Given the description of an element on the screen output the (x, y) to click on. 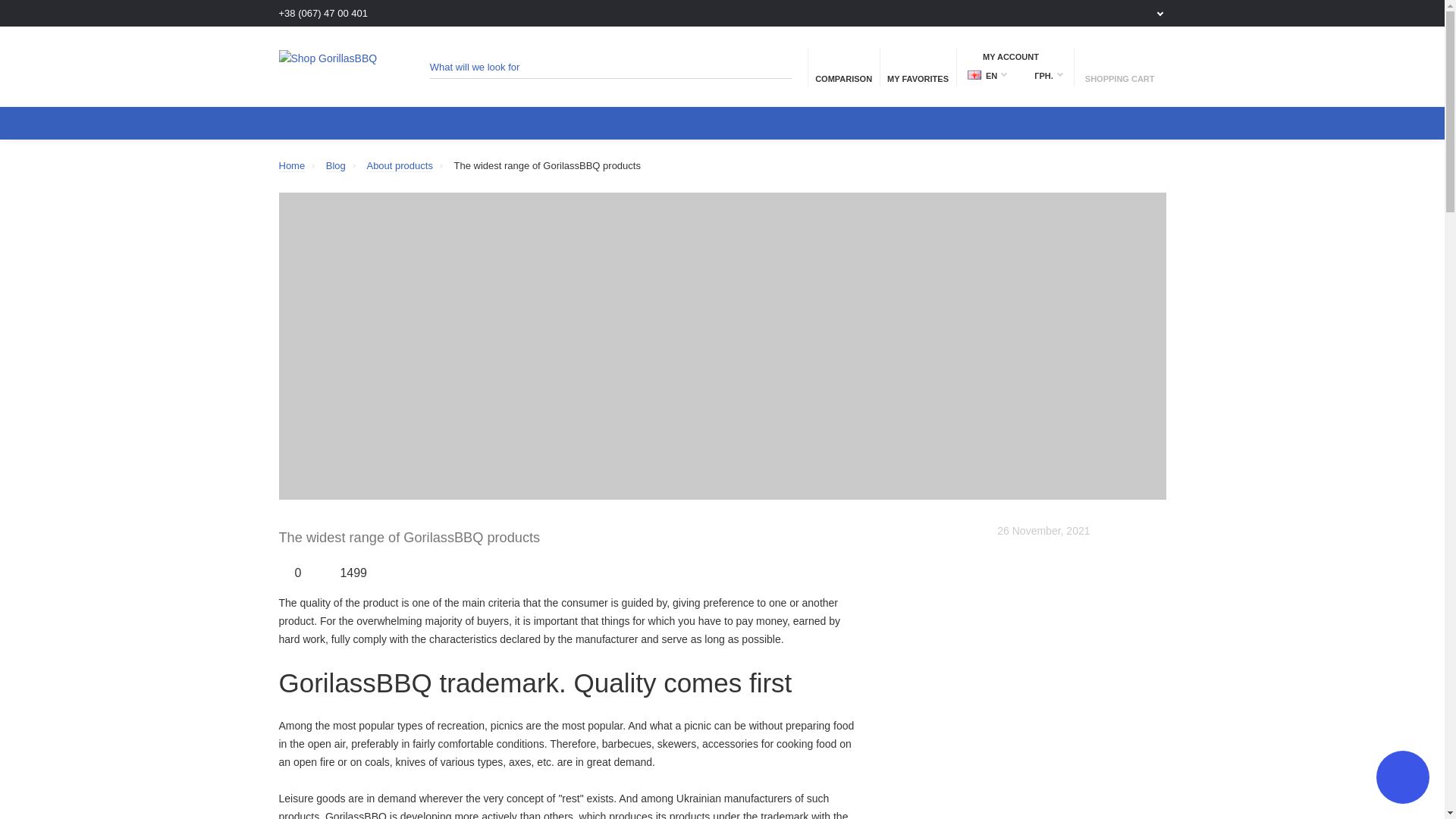
COMPARISON (843, 67)
Shop GorillasBBQ (336, 66)
EN (987, 75)
MY ACCOUNT (1015, 56)
MY FAVORITES (917, 67)
EN  (974, 74)
SHOPPING CART (1120, 67)
